Given the description of an element on the screen output the (x, y) to click on. 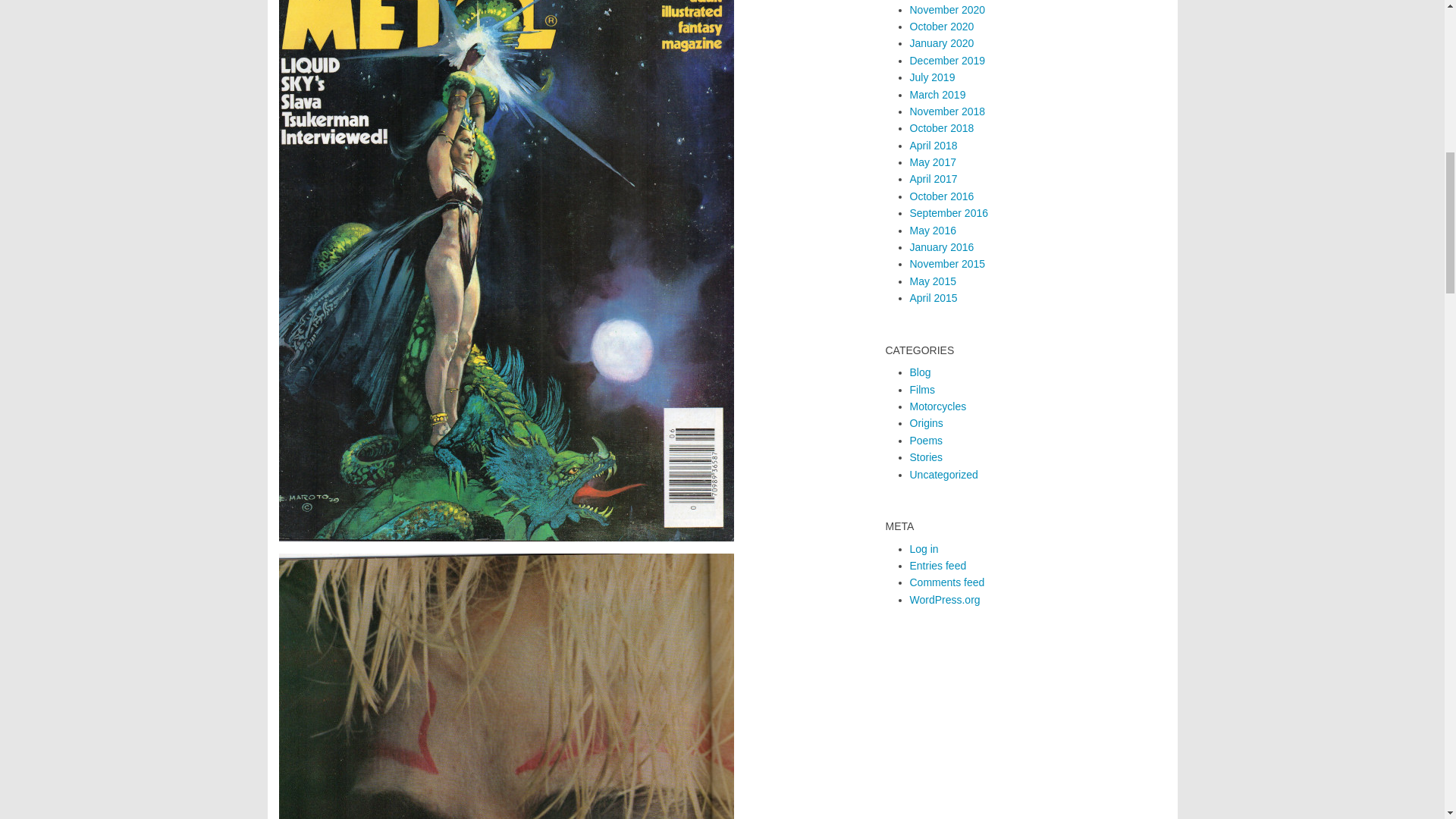
September 2016 (949, 213)
July 2019 (932, 77)
November 2018 (947, 111)
May 2016 (933, 230)
November 2020 (947, 9)
April 2018 (934, 145)
May 2017 (933, 162)
January 2020 (942, 42)
October 2020 (942, 26)
October 2016 (942, 196)
March 2019 (938, 93)
December 2019 (947, 60)
October 2018 (942, 128)
April 2017 (934, 178)
